Given the description of an element on the screen output the (x, y) to click on. 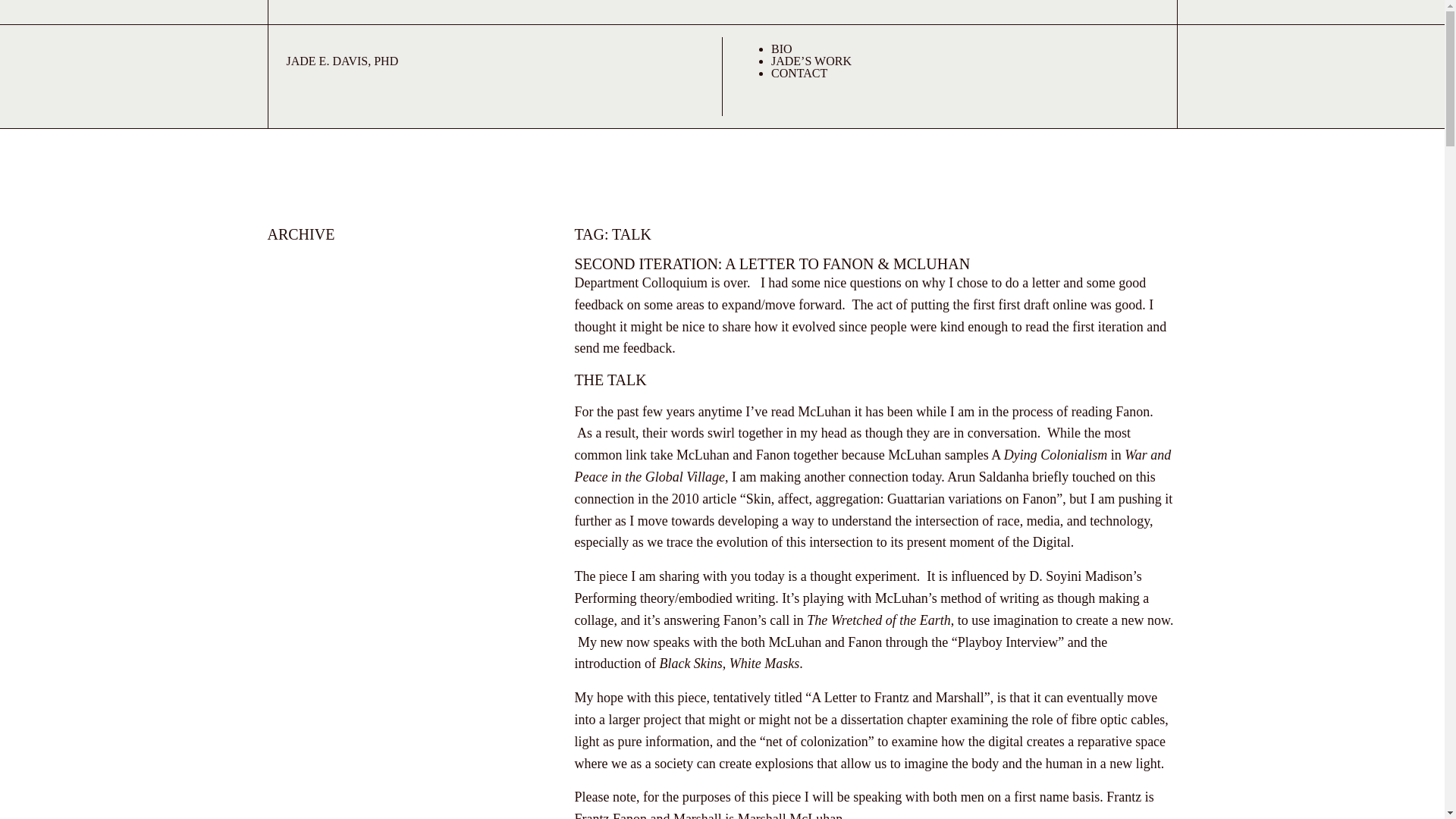
BIO (781, 48)
CONTACT (799, 72)
JADE E. DAVIS, PHD (342, 60)
